Given the description of an element on the screen output the (x, y) to click on. 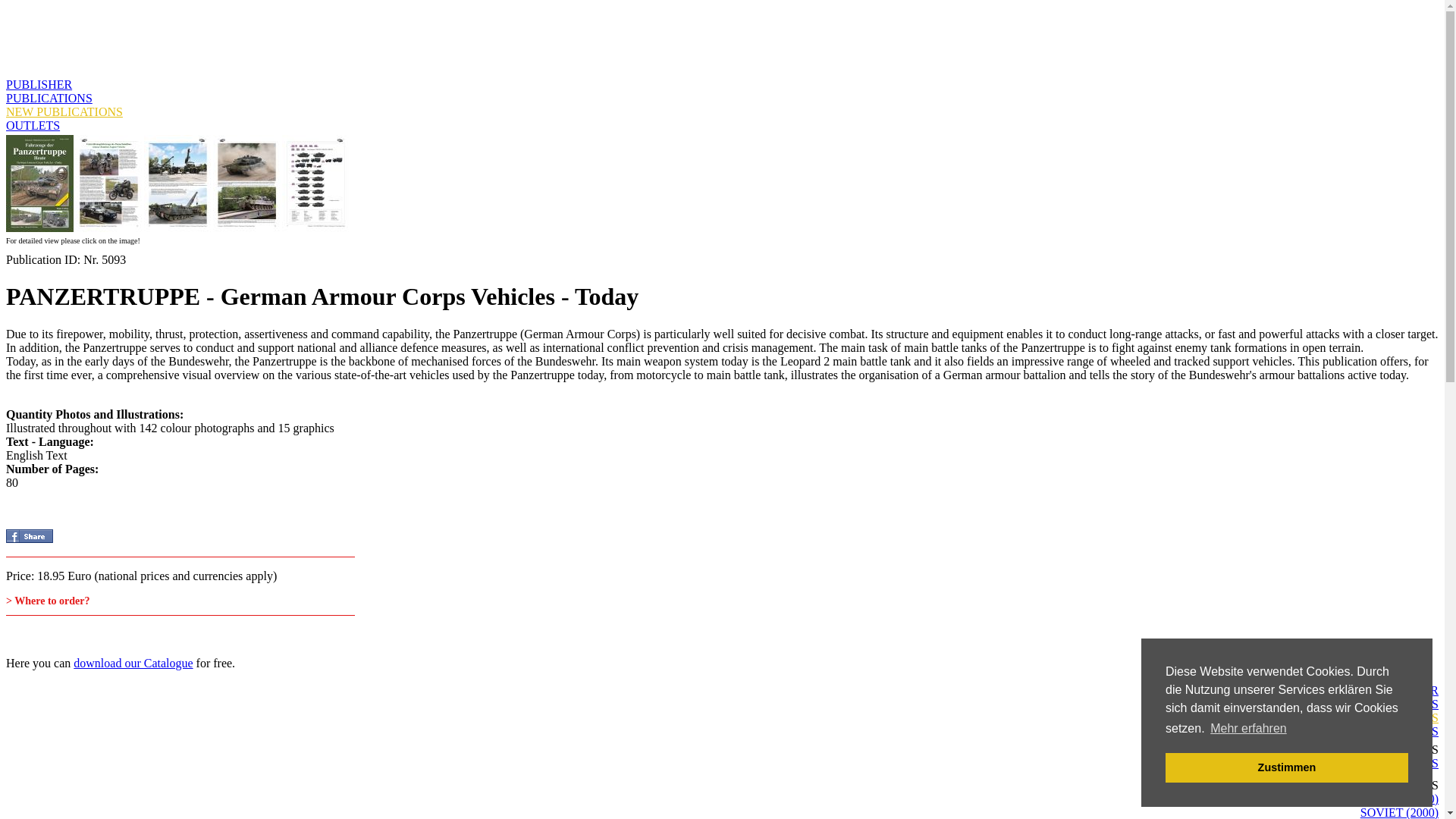
Mehr erfahren (1248, 728)
OUTLETS (32, 124)
download our Catalogue (133, 662)
PUBLISHER (38, 83)
Facebook (28, 535)
NEW PUBLICATIONS (63, 111)
PUBLICATIONS (49, 97)
Zustimmen (1286, 767)
